Given the description of an element on the screen output the (x, y) to click on. 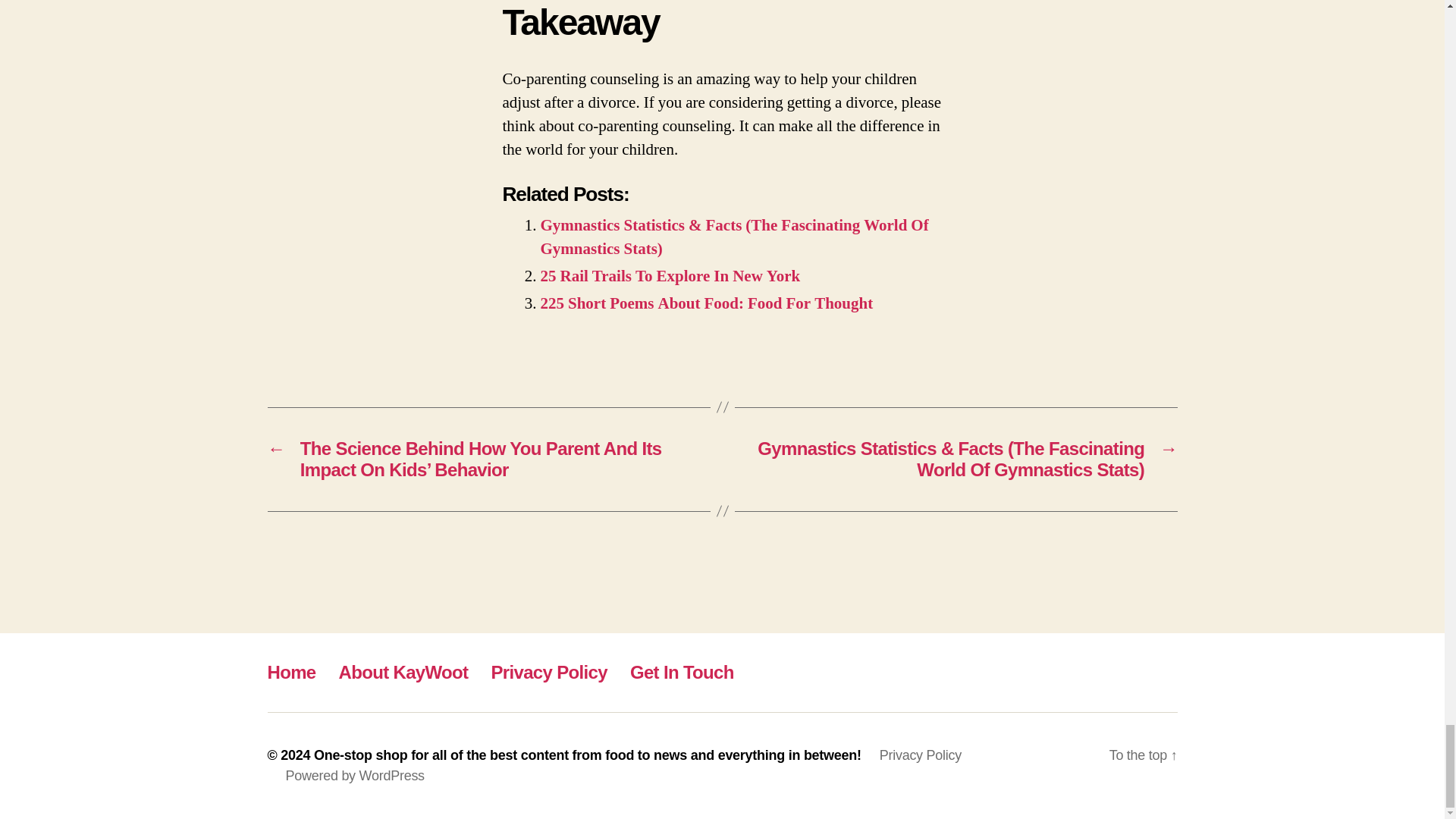
25 Rail Trails To Explore In New York (669, 276)
225 Short Poems About Food: Food For Thought (706, 303)
